Given the description of an element on the screen output the (x, y) to click on. 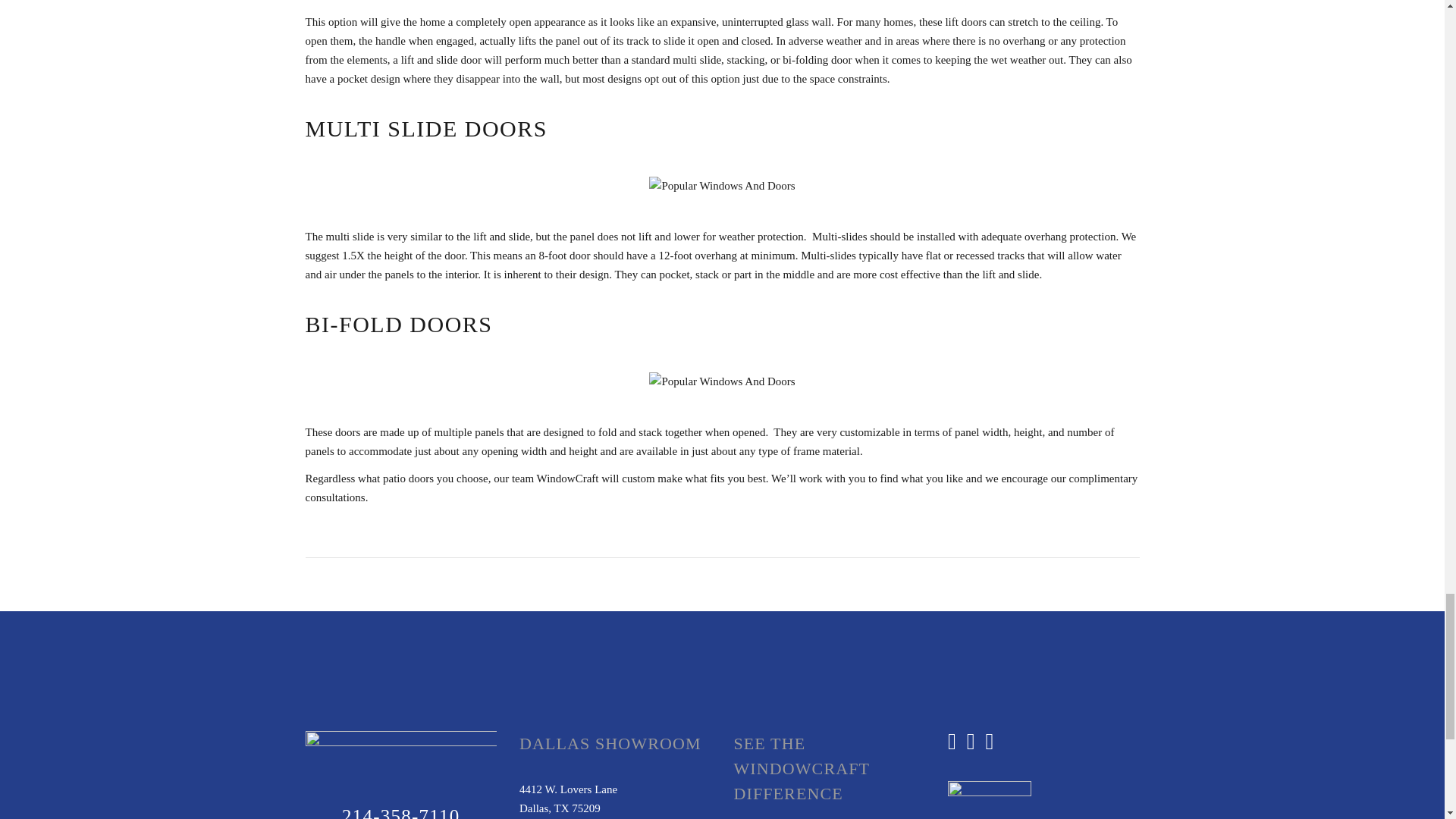
Modern House Overlooking Mountains At Dusk (721, 185)
214-358-7110 (401, 812)
Modern Furnished Sitting Room With Bifold Patio Doors (721, 381)
